Given the description of an element on the screen output the (x, y) to click on. 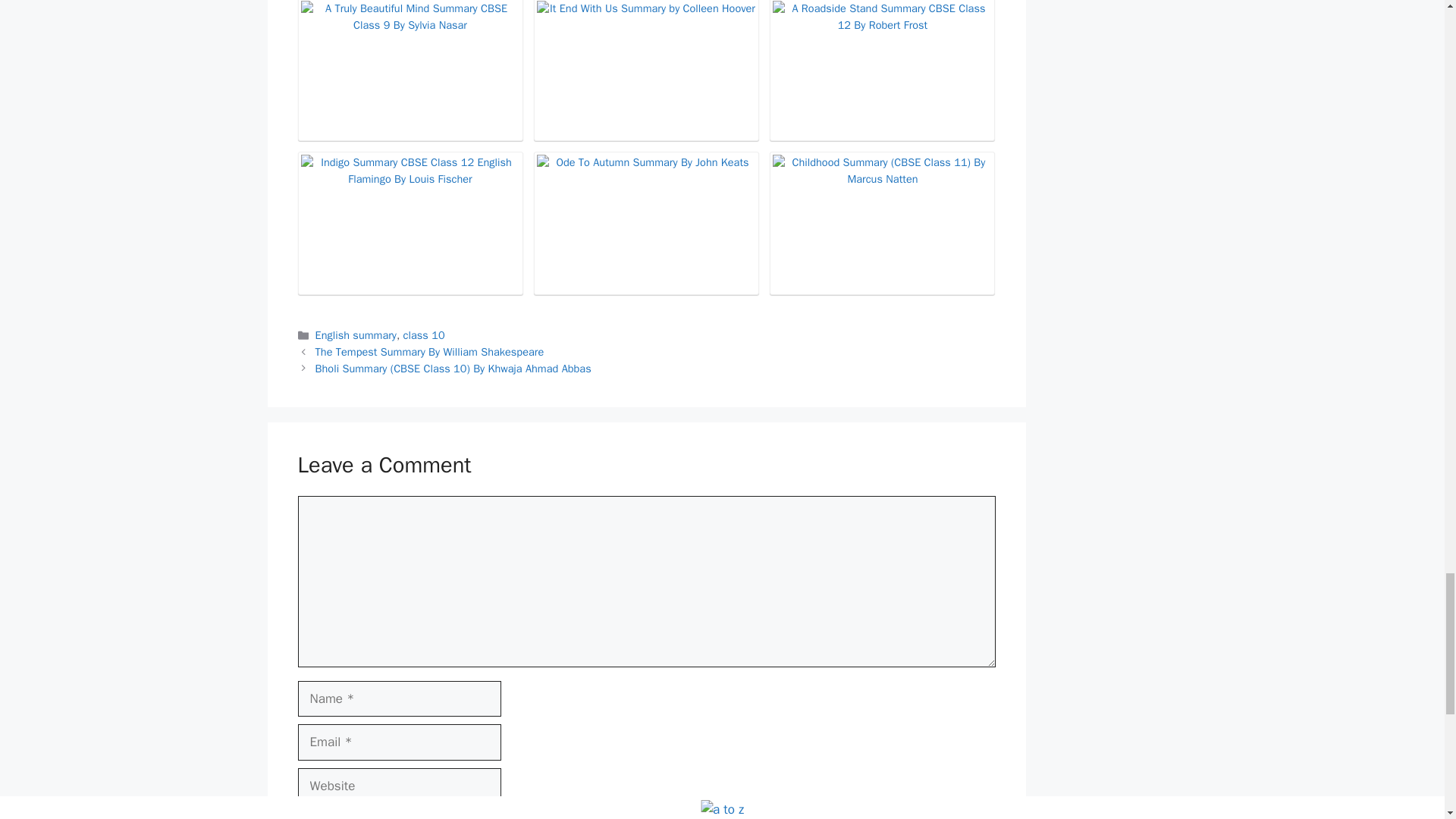
Ode To Autumn Summary By John Keats (646, 222)
It End With Us Summary by Colleen Hoover (646, 69)
